Given the description of an element on the screen output the (x, y) to click on. 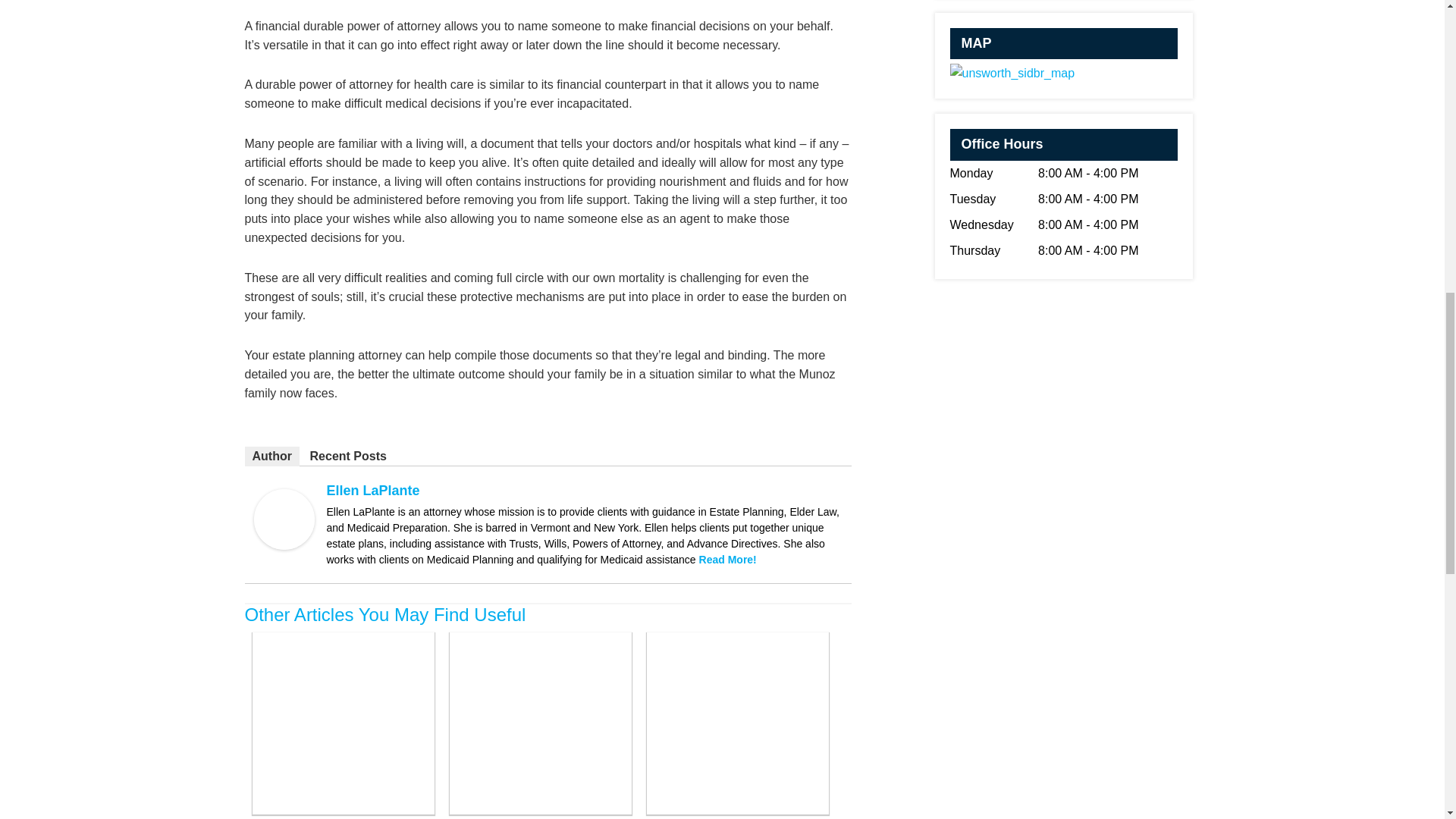
Is There a Way to Prevent a Guardianship? (737, 809)
Prepare for Incapacity to Prevent a Guardianship (539, 809)
Ellen LaPlante (283, 545)
